Given the description of an element on the screen output the (x, y) to click on. 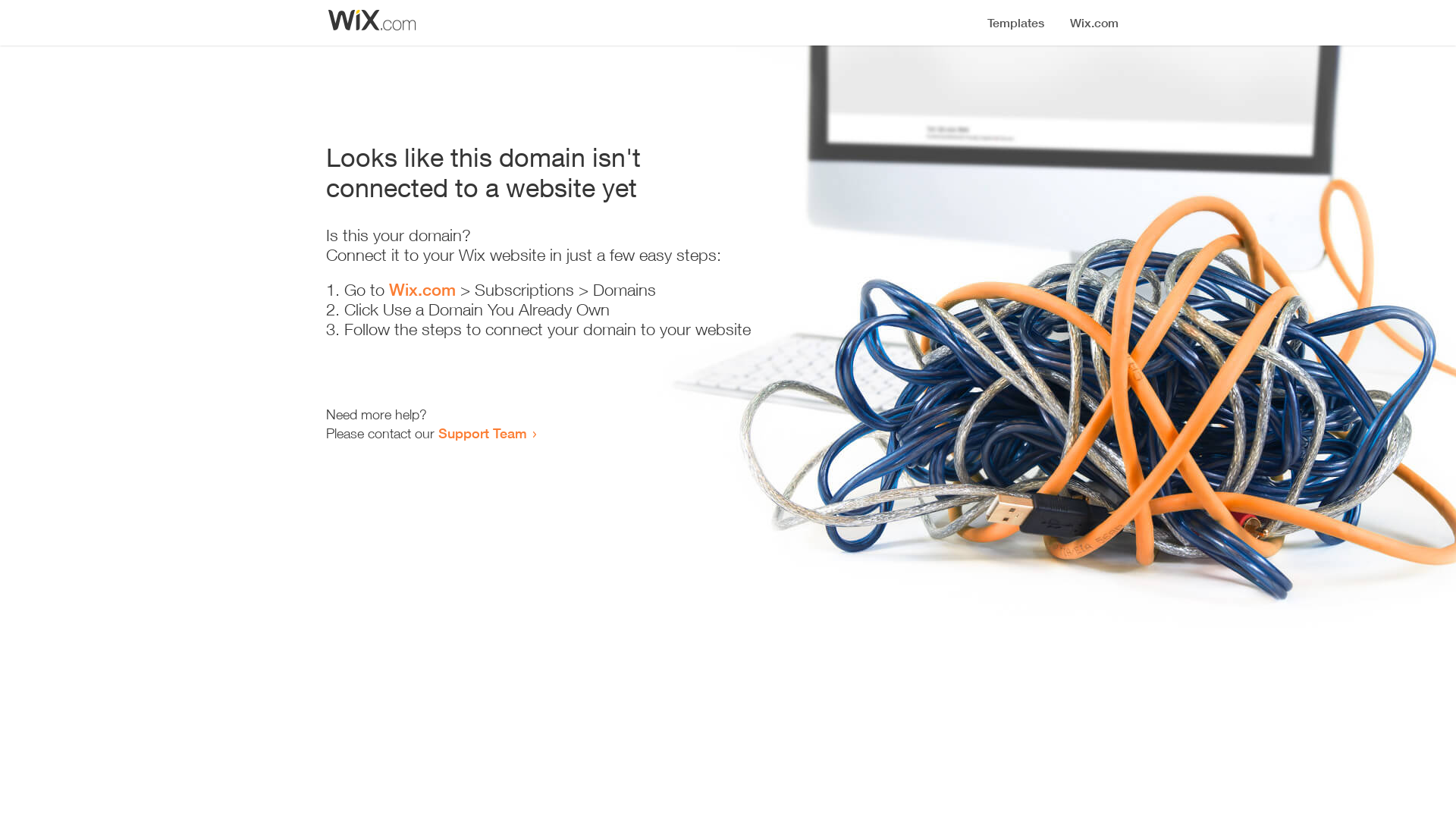
Support Team Element type: text (482, 432)
Wix.com Element type: text (422, 289)
